Given the description of an element on the screen output the (x, y) to click on. 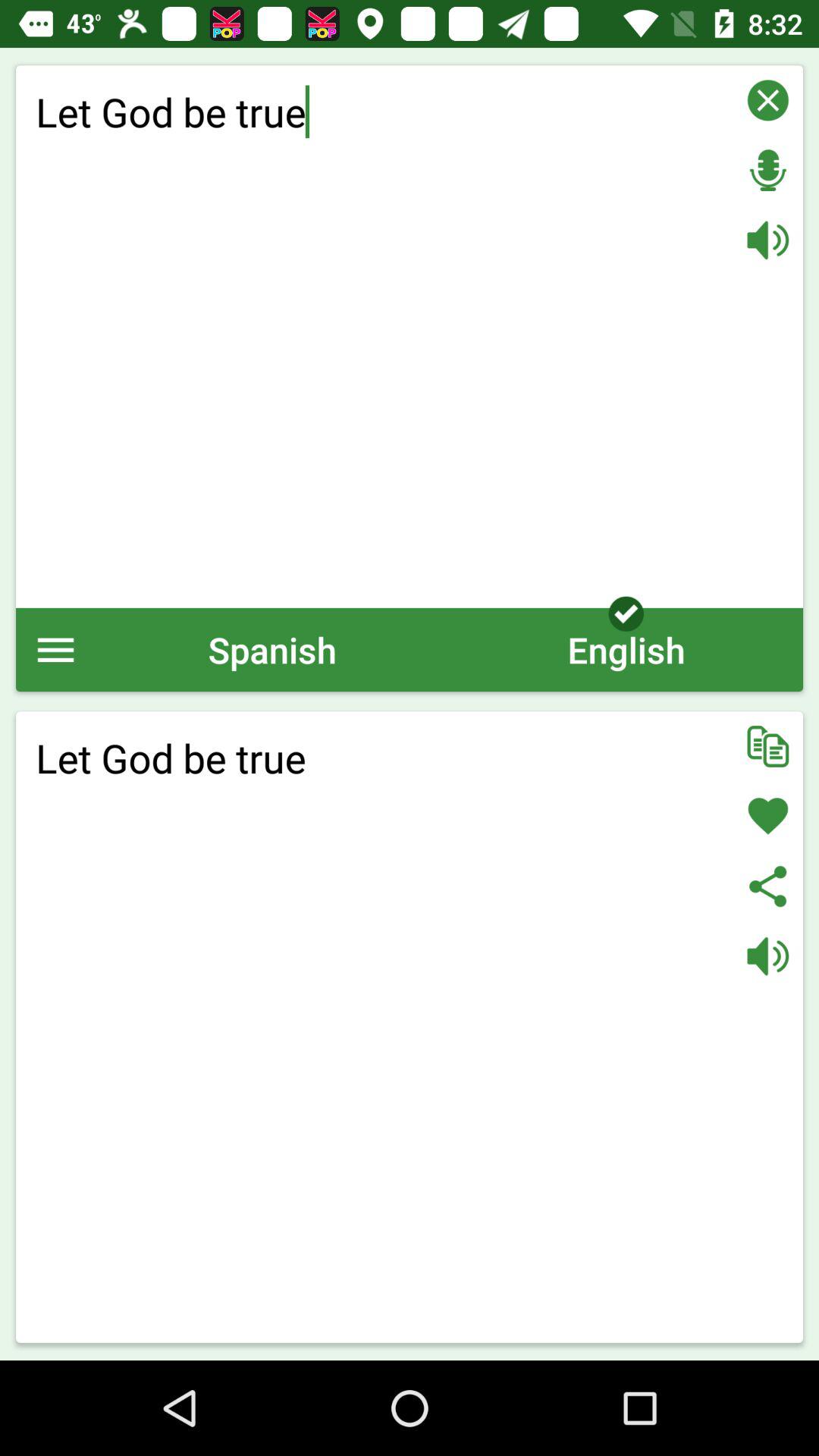
close (768, 100)
